Given the description of an element on the screen output the (x, y) to click on. 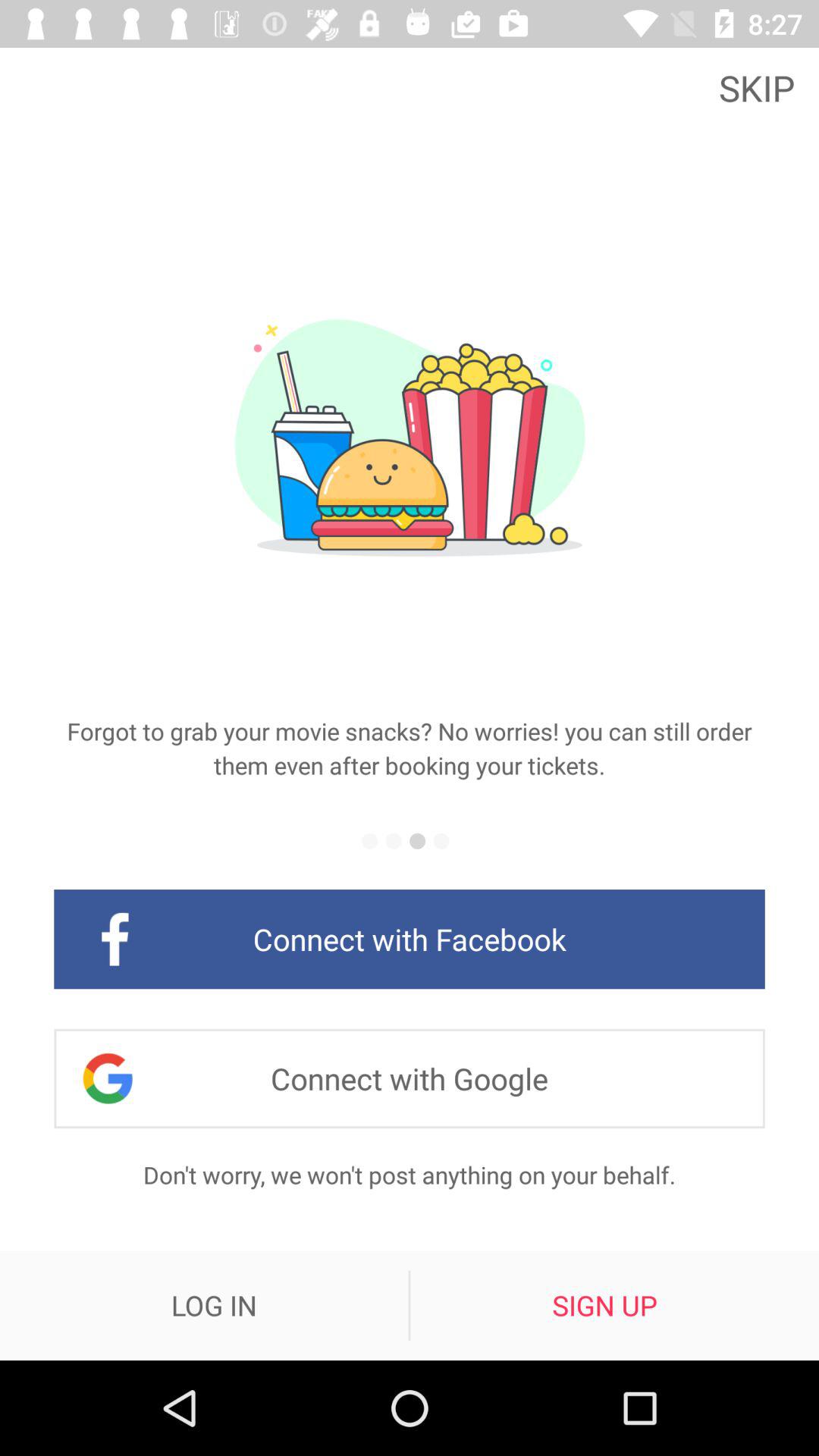
choose skip icon (760, 87)
